Given the description of an element on the screen output the (x, y) to click on. 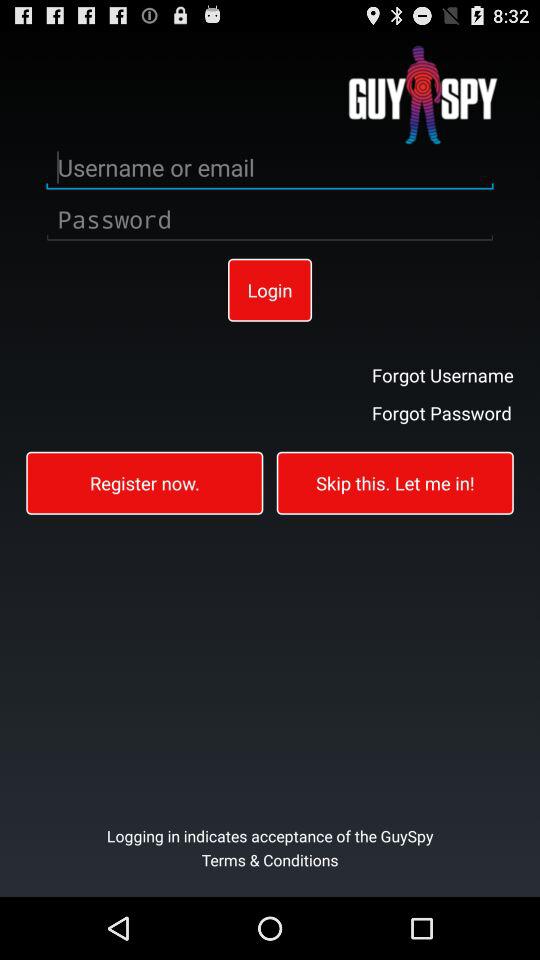
select forgot password (442, 412)
